Given the description of an element on the screen output the (x, y) to click on. 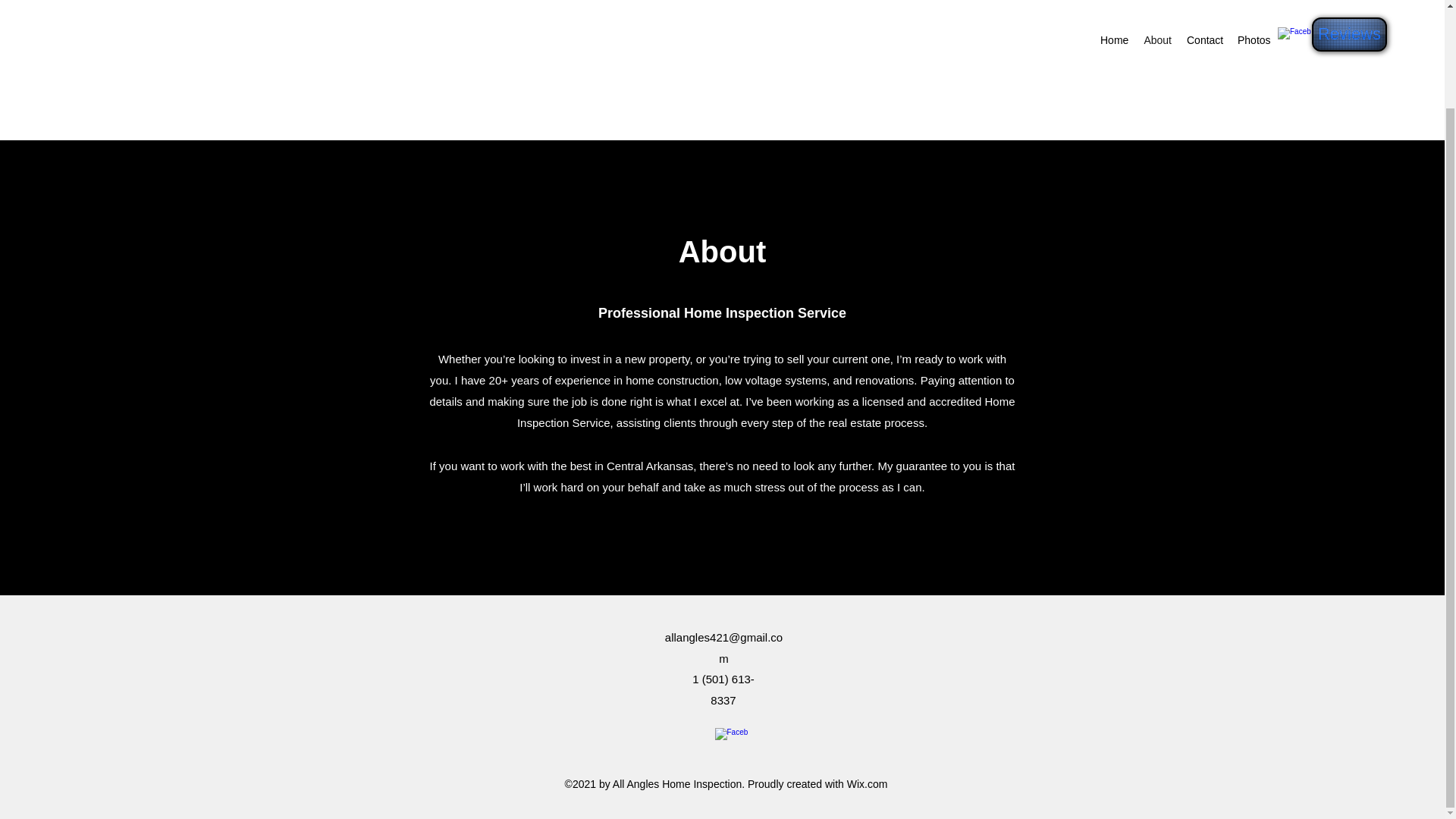
Reviews (1349, 34)
About (1157, 39)
Contact (1204, 39)
Home (1114, 39)
Photos (1254, 39)
